Given the description of an element on the screen output the (x, y) to click on. 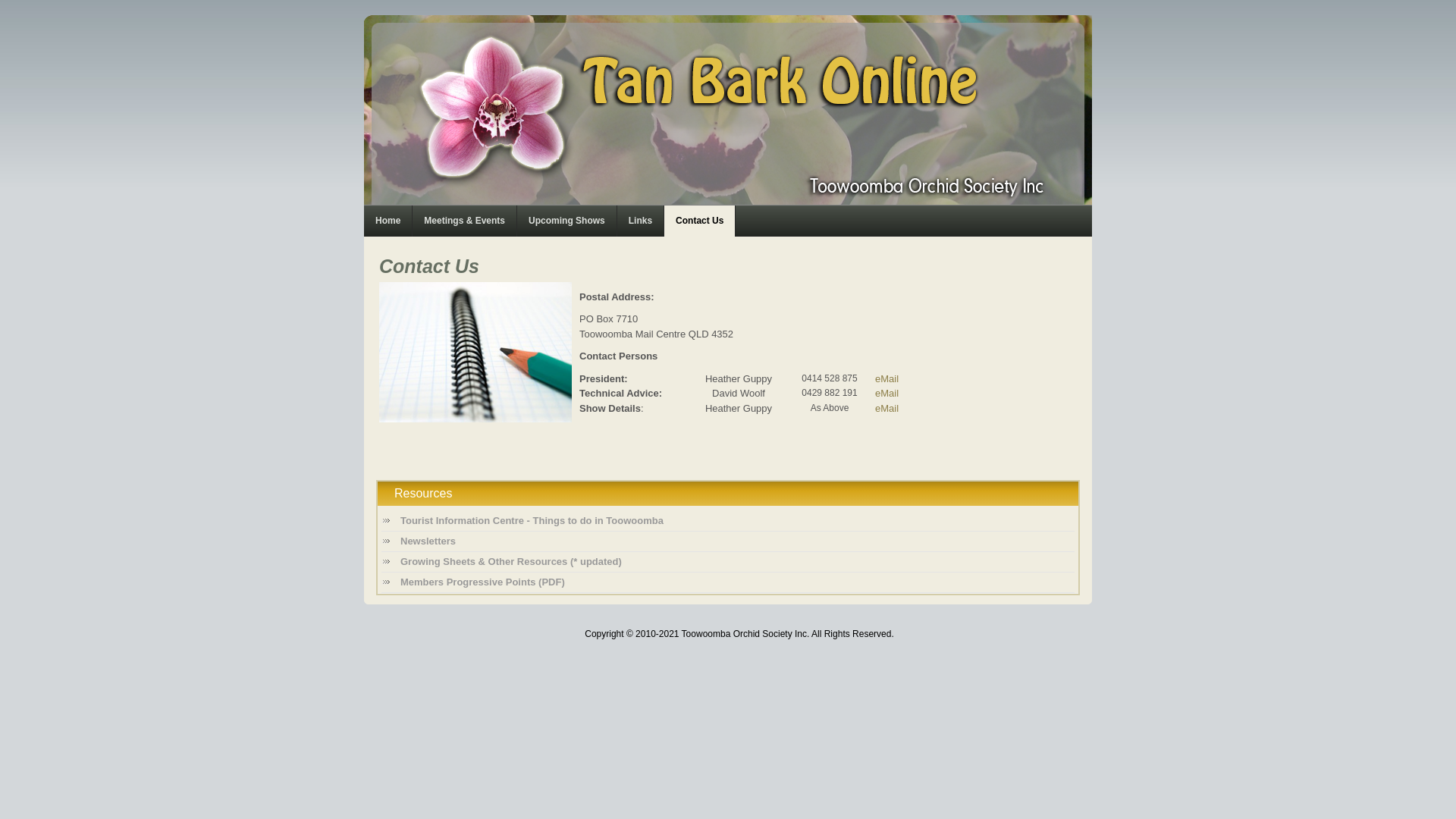
Contact Us Element type: text (699, 220)
Home Element type: text (387, 220)
Members Progressive Points (PDF) Element type: text (727, 582)
eMail Element type: text (886, 378)
Newsletters Element type: text (727, 541)
poker joomla template Element type: hover (368, 599)
eMail Element type: text (886, 392)
eMail Element type: text (886, 407)
Upcoming Shows Element type: text (566, 220)
Growing Sheets & Other Resources (* updated) Element type: text (727, 561)
Tourist Information Centre - Things to do in Toowoomba Element type: text (727, 520)
Meetings & Events Element type: text (464, 220)
everest poker bonus Element type: hover (369, 599)
Links Element type: text (640, 220)
